Given the description of an element on the screen output the (x, y) to click on. 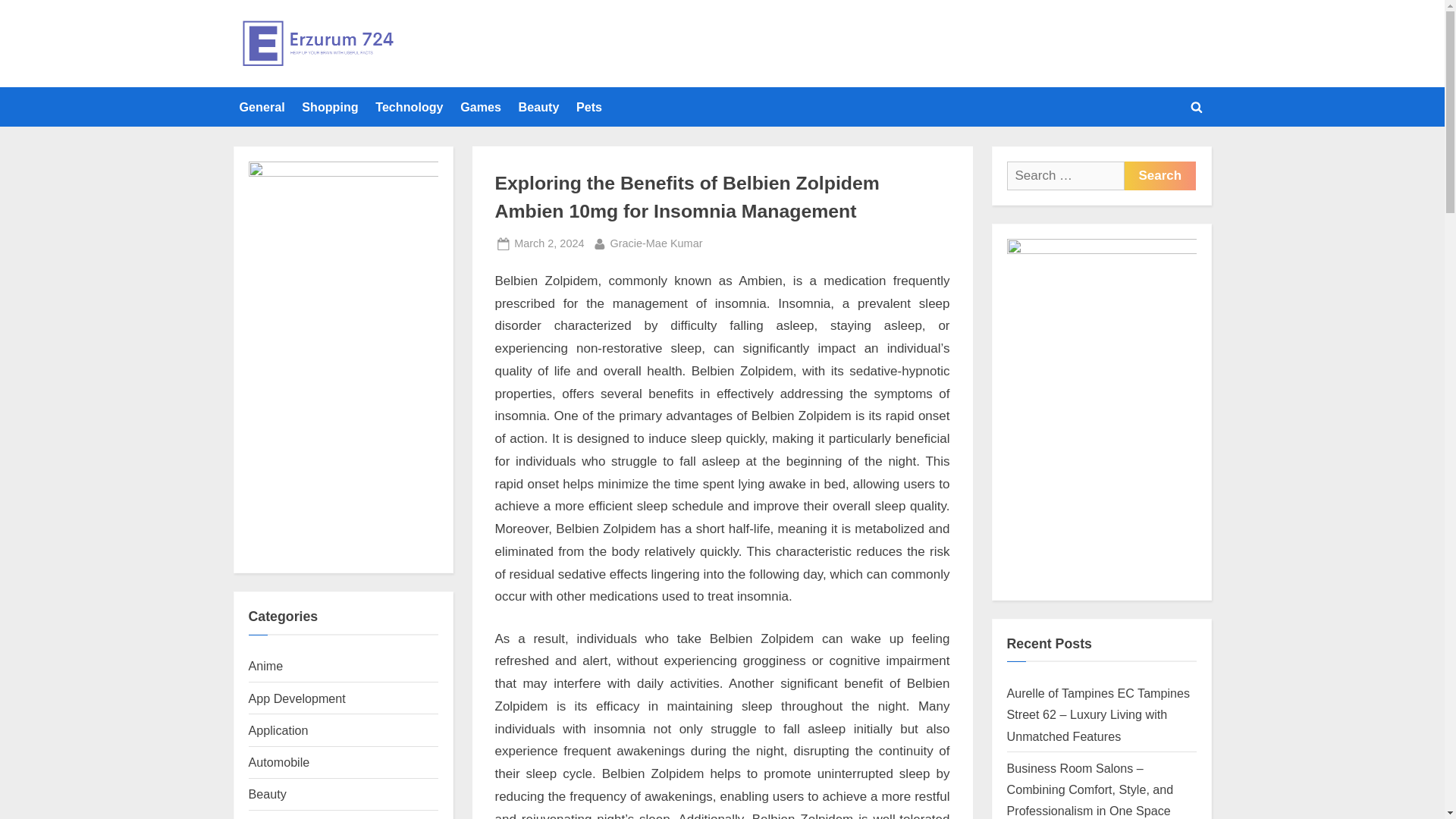
Search (1159, 175)
Erzurum 724 (464, 56)
Games (480, 106)
Beauty (539, 106)
Technology (409, 106)
App Development (297, 698)
Automobile (279, 762)
Application (656, 243)
Pets (278, 730)
General (589, 106)
Search (548, 243)
Shopping (261, 106)
Toggle search form (1159, 175)
